Given the description of an element on the screen output the (x, y) to click on. 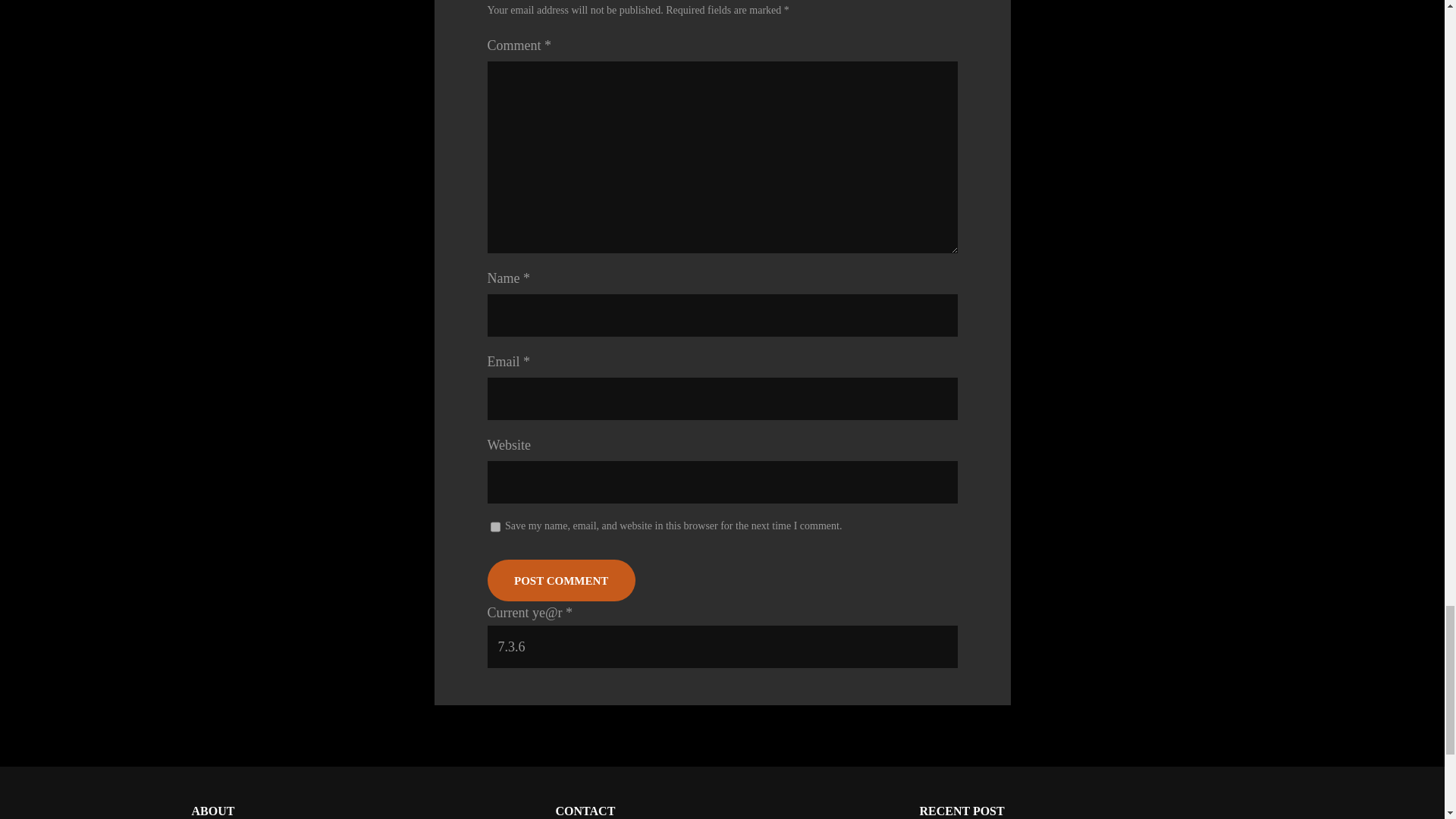
Post Comment (560, 580)
Post Comment (560, 580)
7.3.6 (721, 646)
